Given the description of an element on the screen output the (x, y) to click on. 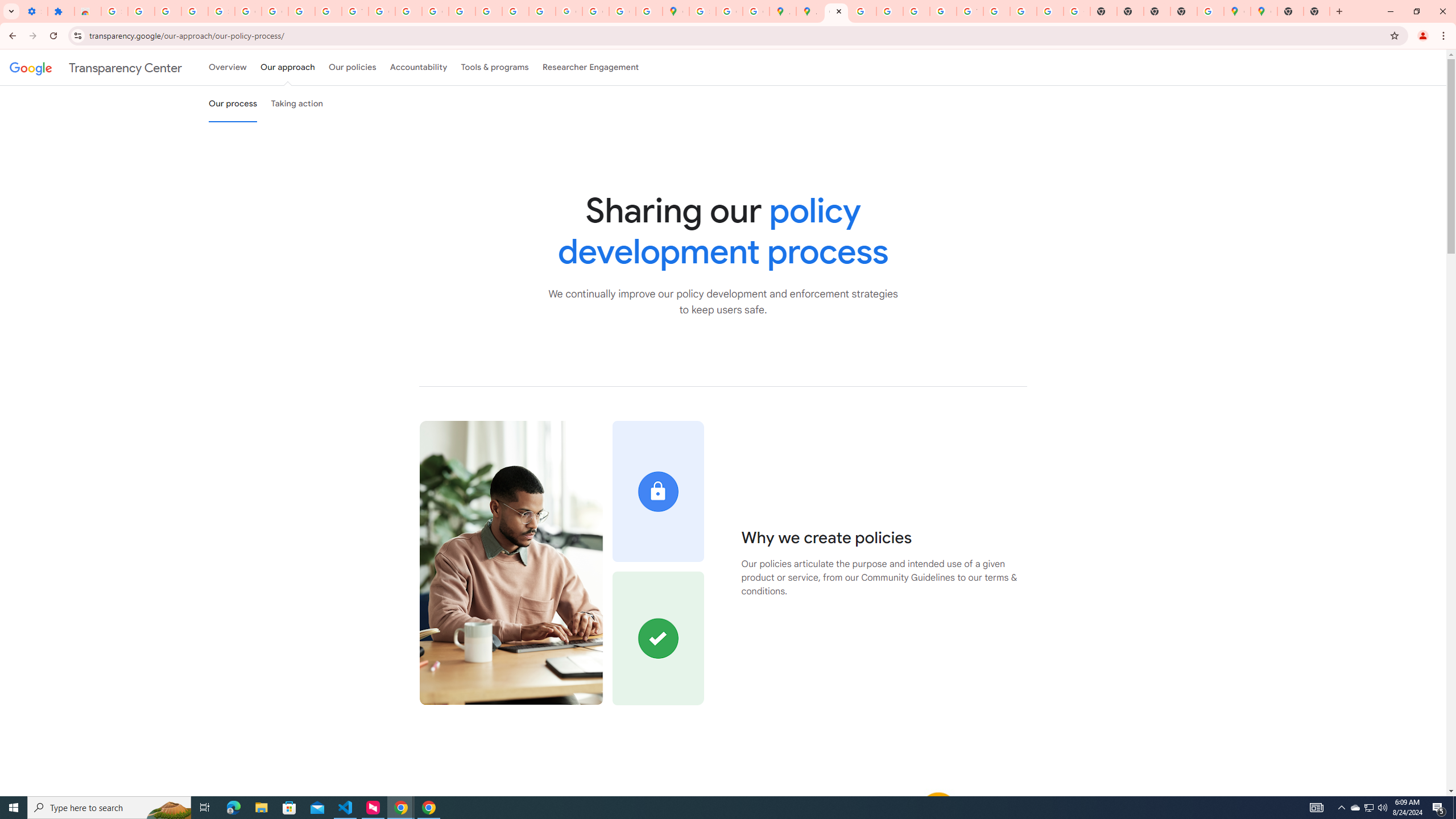
Transparency Center (95, 67)
Our process (232, 103)
Google Account Help (275, 11)
New Tab (1316, 11)
Use Google Maps in Space - Google Maps Help (1210, 11)
Privacy Help Center - Policies Help (889, 11)
Privacy Help Center - Policies Help (462, 11)
Accountability (418, 67)
